Given the description of an element on the screen output the (x, y) to click on. 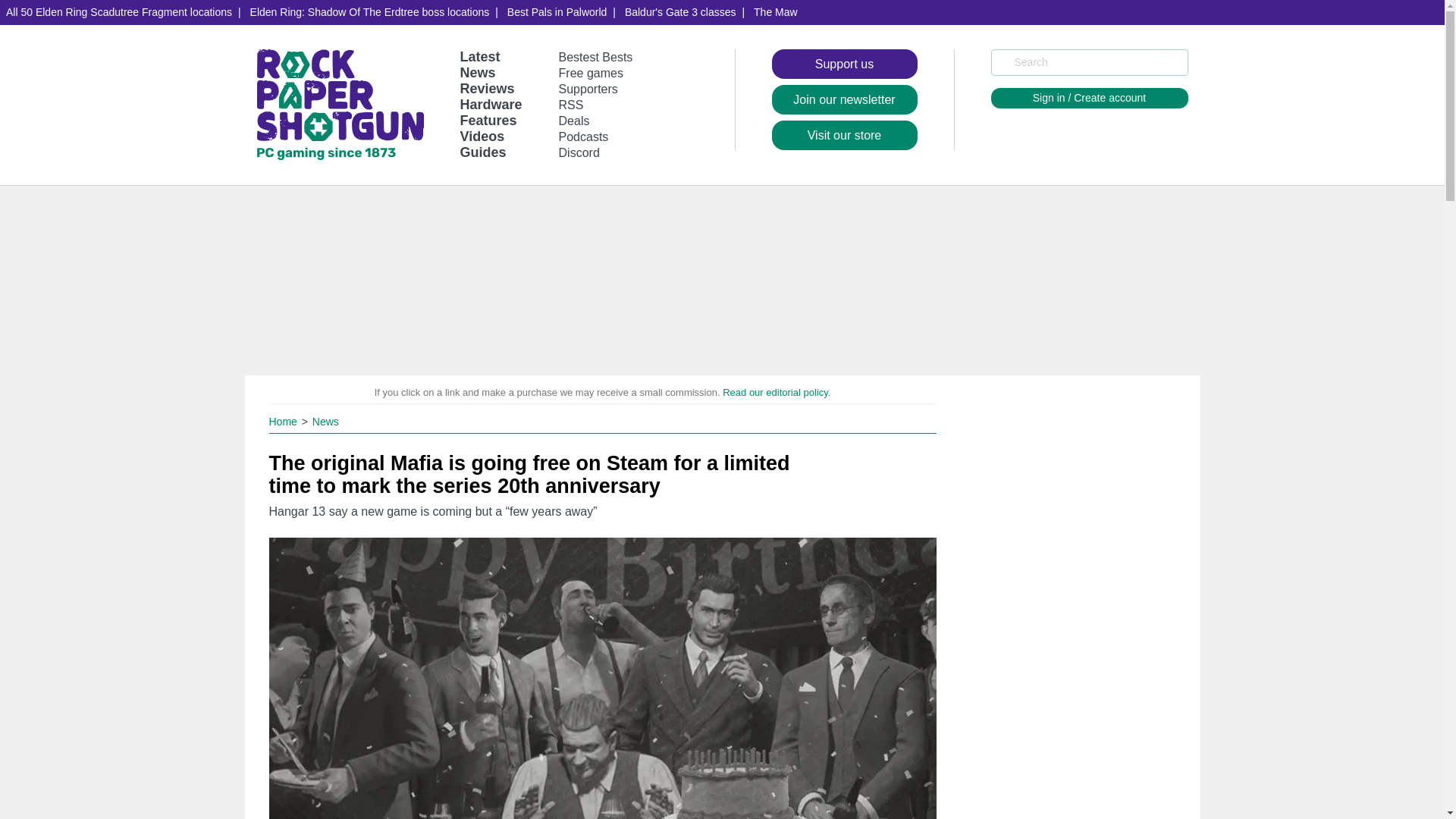
The Maw (775, 12)
Baldur's Gate 3 classes (680, 12)
Latest (479, 56)
Home (283, 421)
Latest (479, 56)
The Maw (775, 12)
News (326, 421)
RSS (571, 104)
Best Pals in Palworld (556, 12)
Reviews (486, 88)
